Given the description of an element on the screen output the (x, y) to click on. 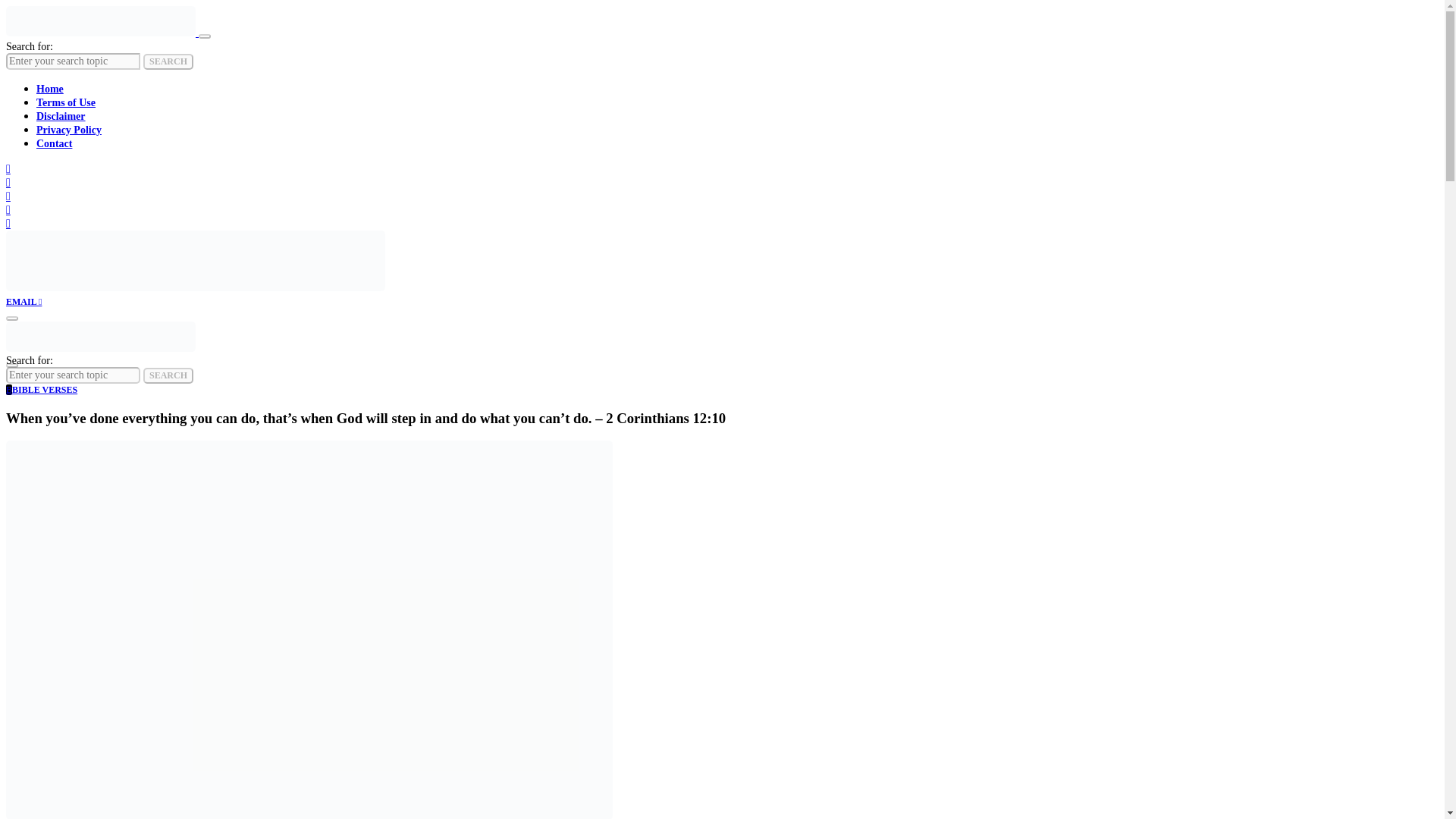
Disclaimer (60, 116)
Home (50, 89)
Terms of Use (66, 102)
SEARCH (167, 375)
SEARCH (167, 61)
EMAIL (23, 301)
Contact (53, 143)
BBIBLE VERSES (41, 389)
Privacy Policy (68, 129)
